Given the description of an element on the screen output the (x, y) to click on. 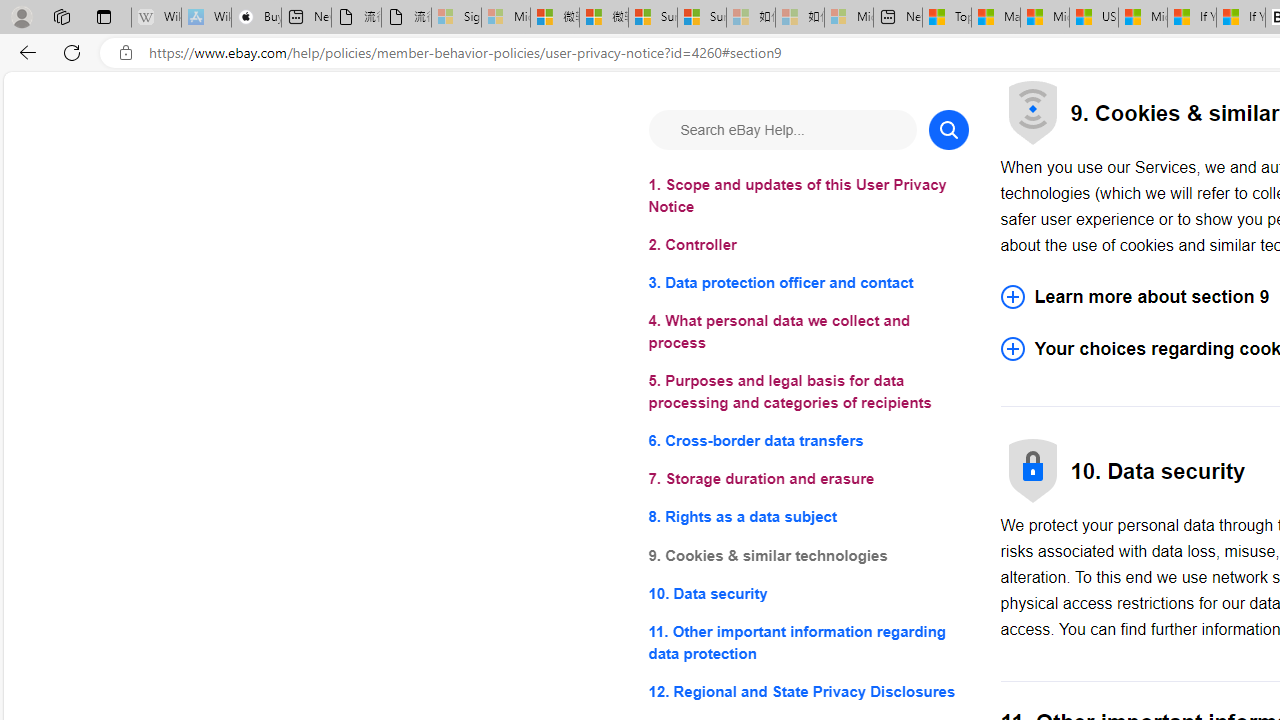
Microsoft Services Agreement - Sleeping (505, 17)
4. What personal data we collect and process (807, 332)
US Heat Deaths Soared To Record High Last Year (1093, 17)
11. Other important information regarding data protection (807, 642)
11. Other important information regarding data protection (807, 642)
10. Data security (807, 592)
8. Rights as a data subject (807, 517)
10. Data security (807, 592)
7. Storage duration and erasure (807, 479)
Buy iPad - Apple (256, 17)
